Given the description of an element on the screen output the (x, y) to click on. 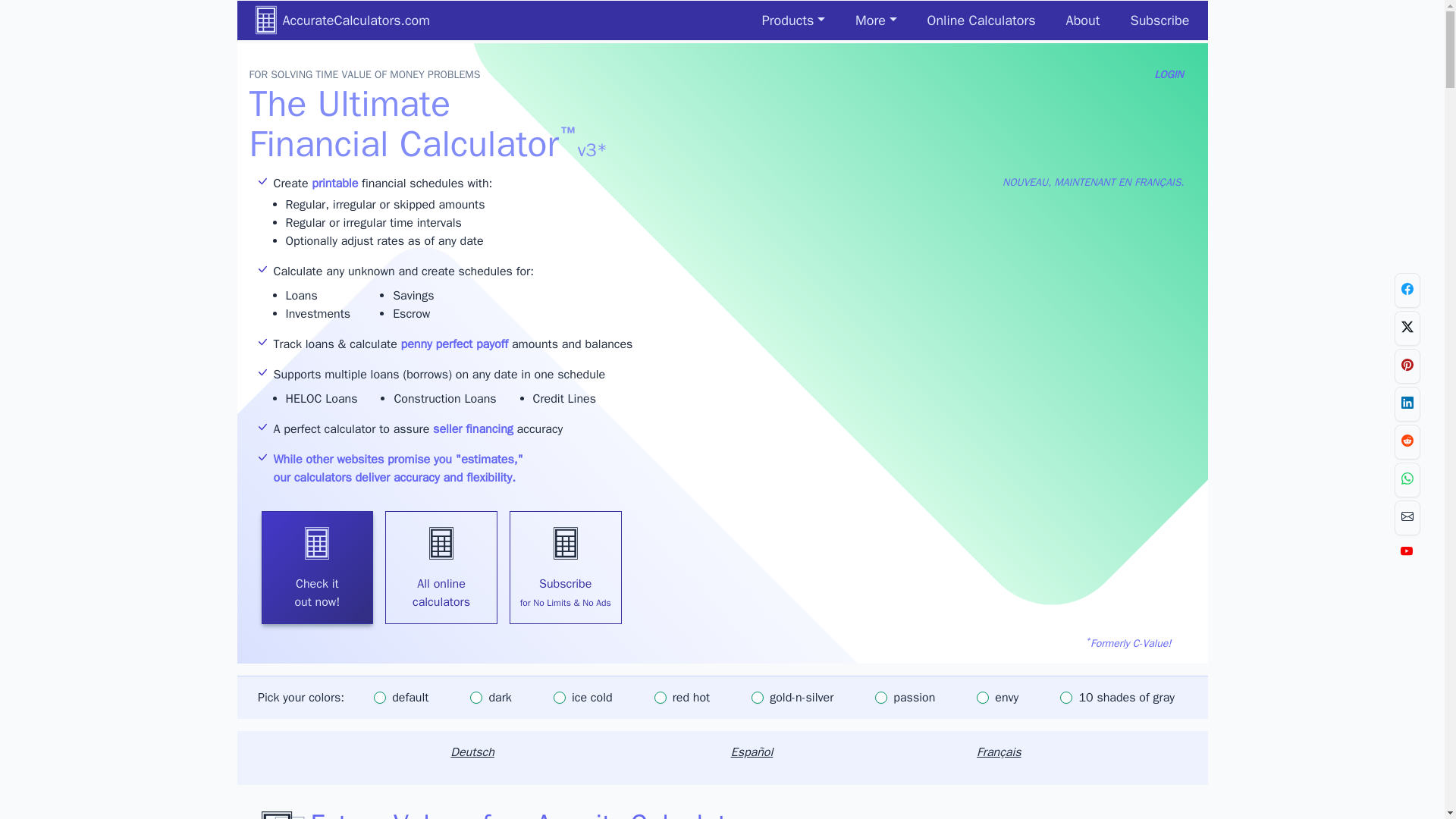
Subscribe (1159, 20)
2 (559, 697)
Deutsch (472, 752)
No CC or registration required. (316, 567)
LOGIN (1168, 74)
About (1082, 20)
Products (793, 20)
AccurateCalculators.com (341, 19)
Unlimited printing and file saving. More. (565, 567)
